Given the description of an element on the screen output the (x, y) to click on. 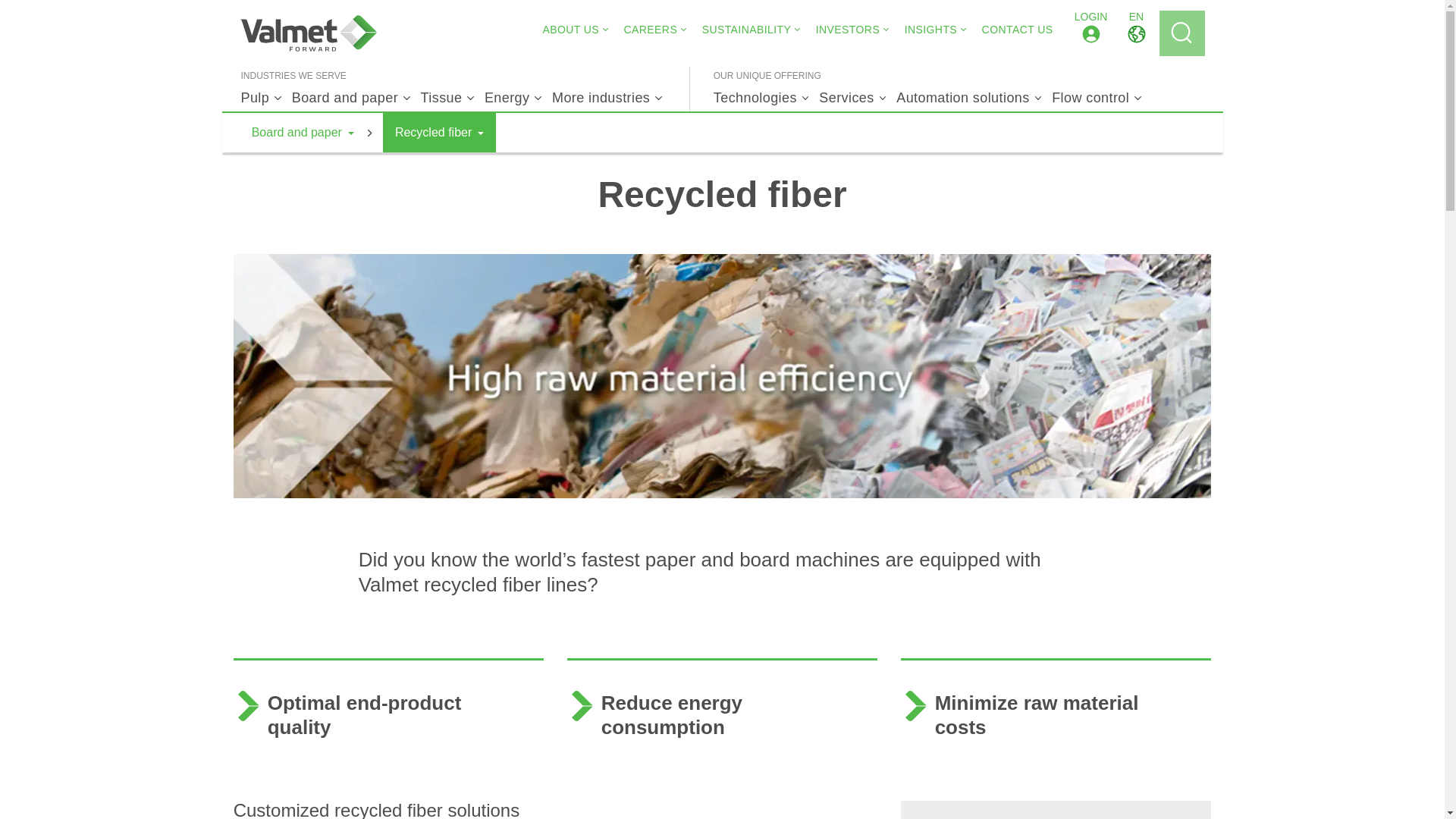
Valmet - Forward (307, 33)
EN (1135, 33)
LOGIN (1090, 33)
ABOUT US (570, 29)
